Given the description of an element on the screen output the (x, y) to click on. 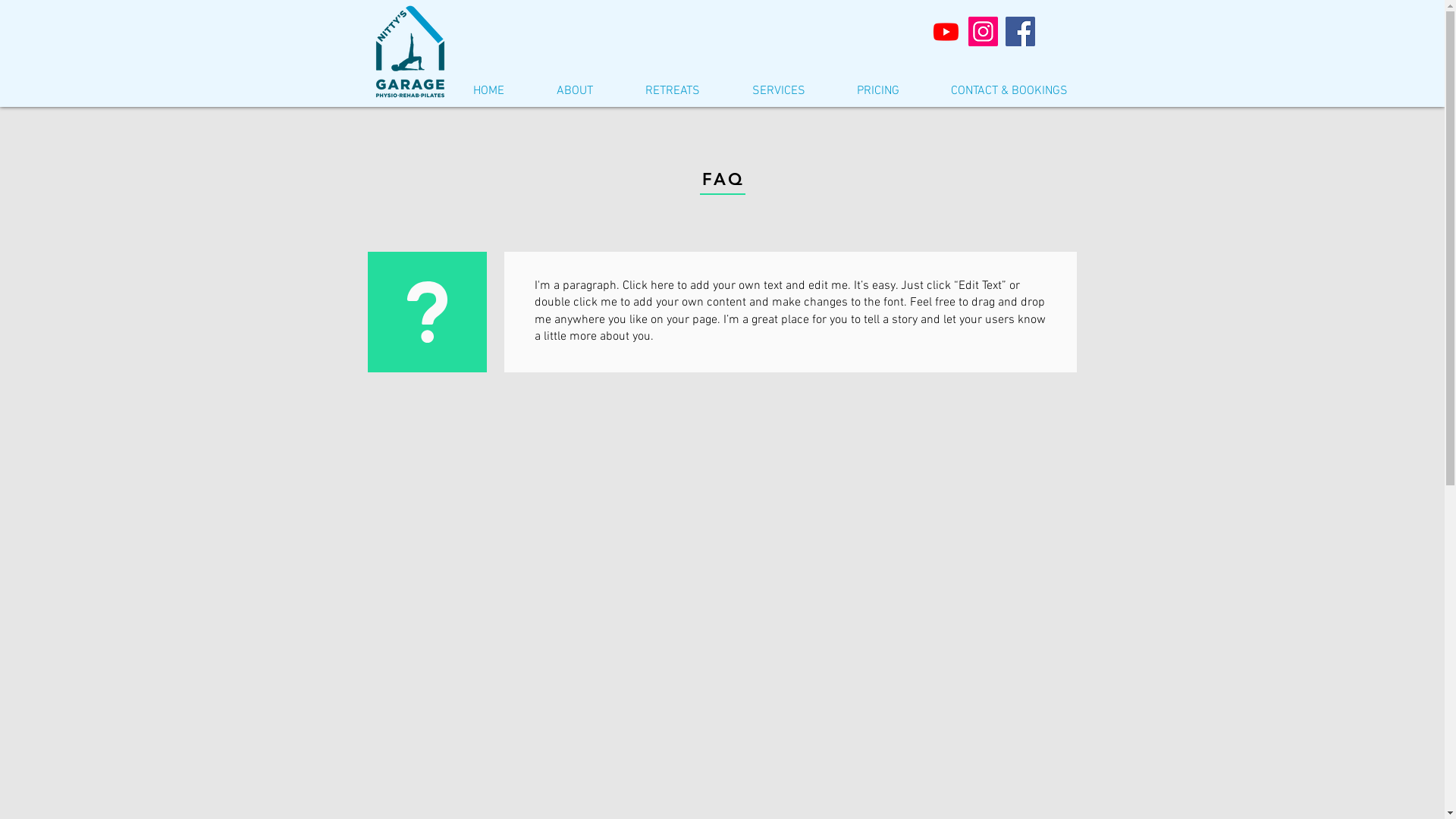
SERVICES Element type: text (778, 89)
ABOUT Element type: text (574, 89)
CONTACT & BOOKINGS Element type: text (1009, 89)
PRICING Element type: text (878, 89)
HOME Element type: text (488, 89)
RETREATS Element type: text (671, 89)
